Given the description of an element on the screen output the (x, y) to click on. 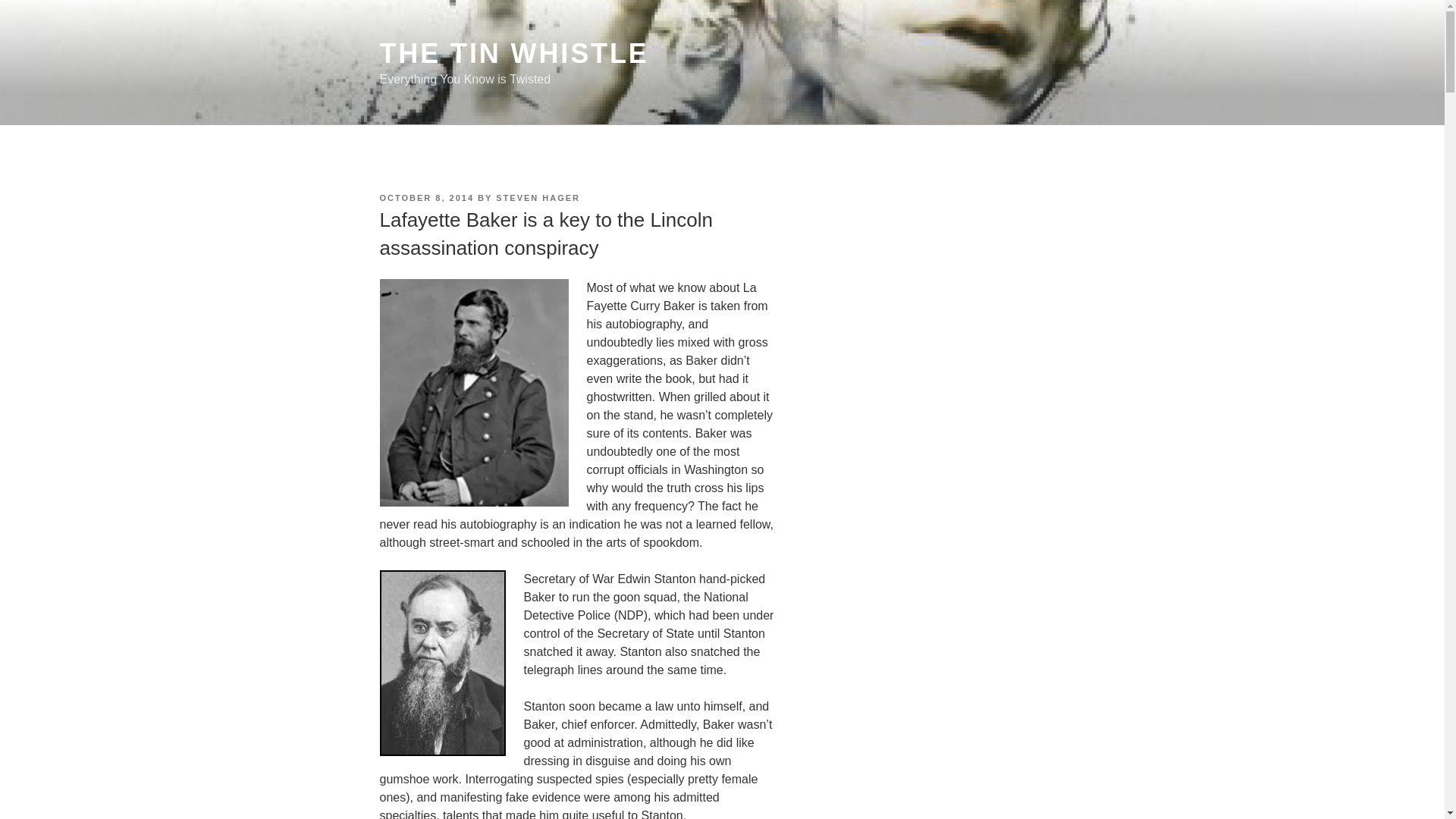
THE TIN WHISTLE (512, 52)
OCTOBER 8, 2014 (426, 197)
STEVEN HAGER (537, 197)
YouTube video player (941, 310)
